Given the description of an element on the screen output the (x, y) to click on. 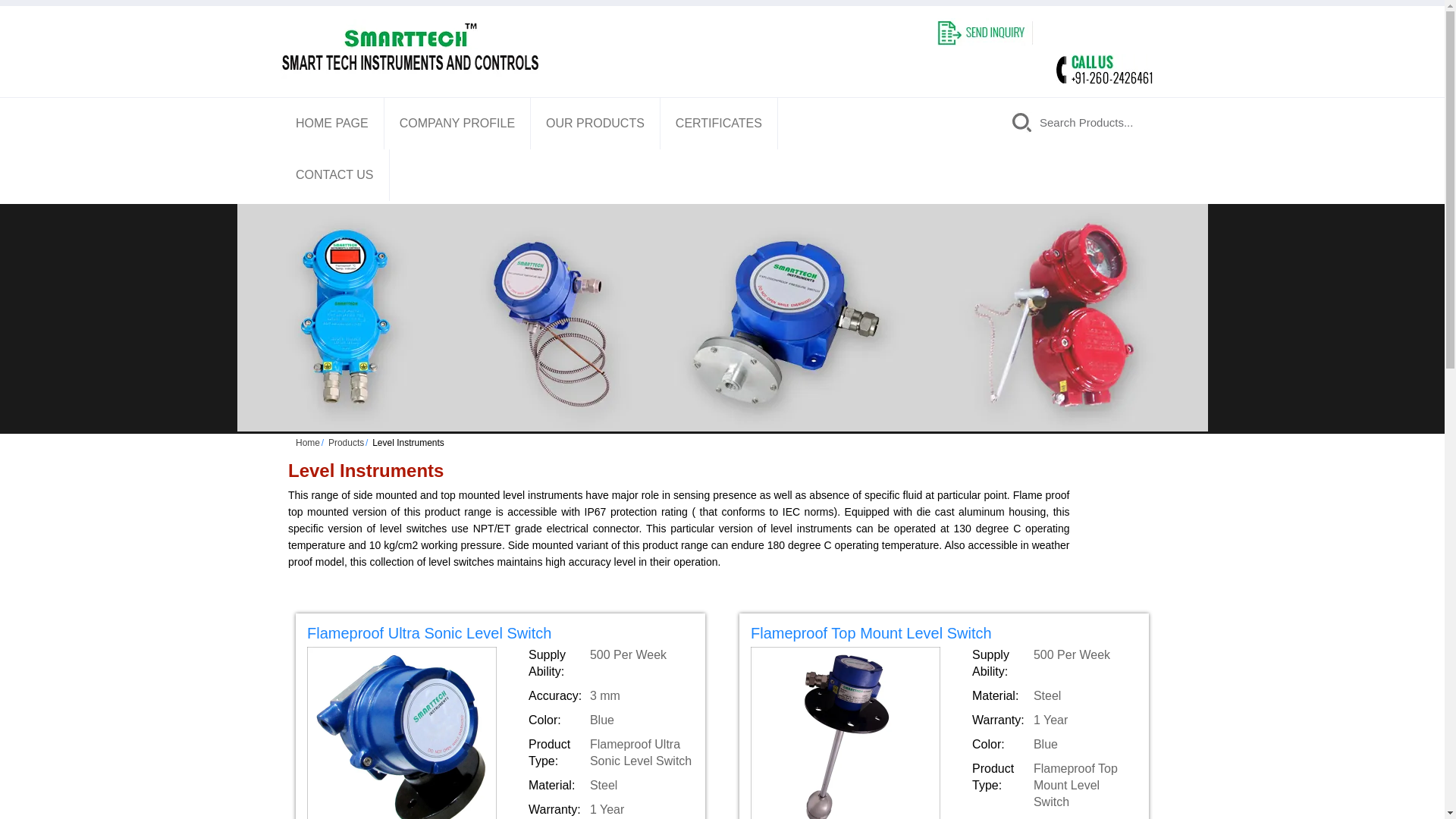
OUR PRODUCTS (595, 123)
Color: Blue (1054, 744)
Color: Blue (610, 719)
Flameproof Ultra Sonic Level Switch (500, 635)
Warranty: 1 Year (1054, 719)
Product Type: Flameproof Top Mount Level Switch (1054, 785)
Call Us (1103, 69)
Product Type: Flameproof Ultra Sonic Level Switch (610, 752)
Accuracy: 3 mm (610, 695)
Material: Steel (610, 785)
Flameproof Top Mount Level Switch (944, 635)
Supply Ability: 500 Per Week (610, 663)
Warranty: 1 Year (610, 809)
Supply Ability: 500 Per Week (1054, 663)
